Given the description of an element on the screen output the (x, y) to click on. 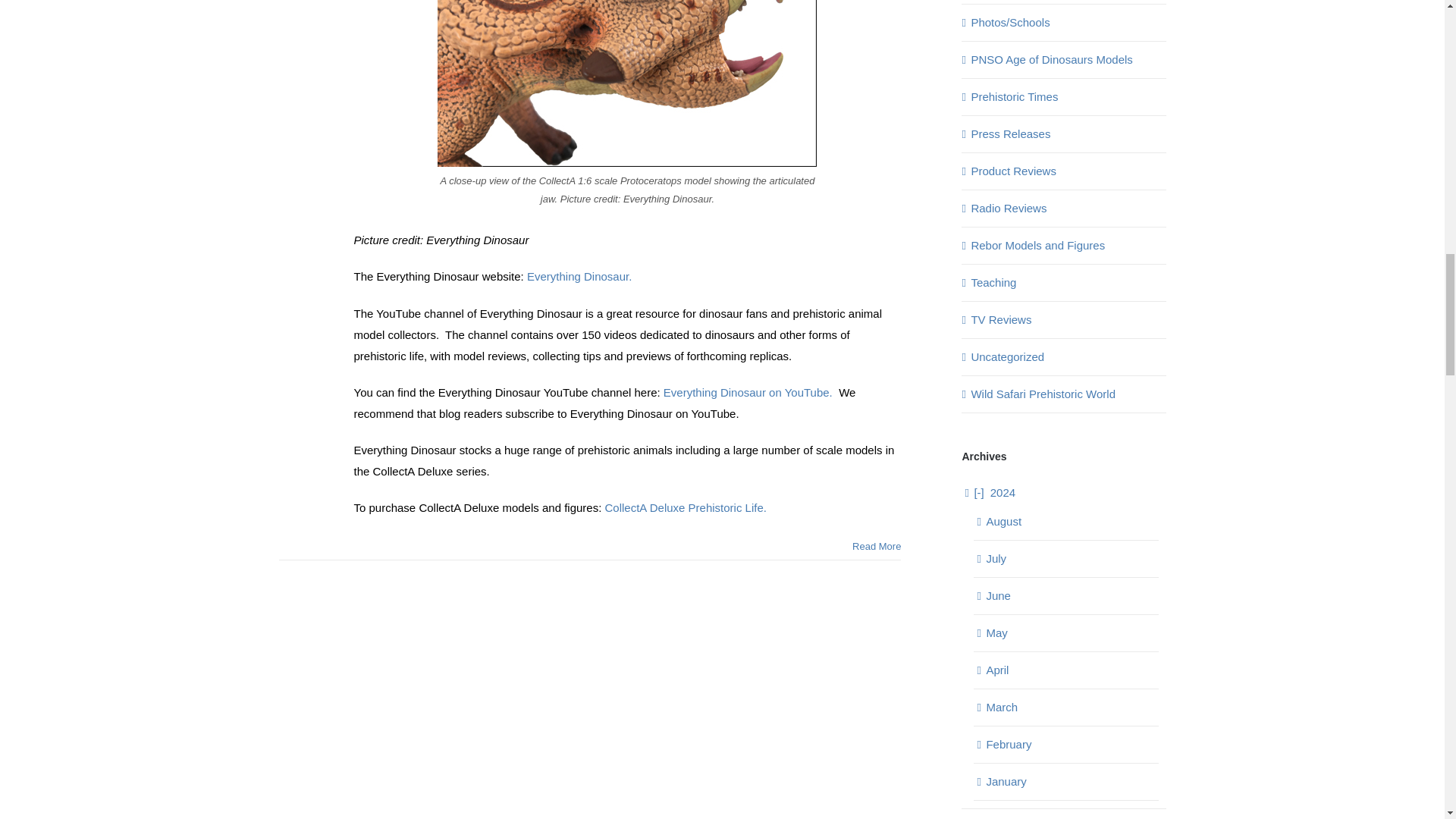
August (1003, 521)
2024 (994, 492)
CollectA Deluxe Prehistoric Life. (686, 507)
July (995, 558)
March (1001, 707)
Read More (876, 546)
Everything Dinosaur. (579, 276)
Everything Dinosaur on YouTube. (747, 391)
April (997, 669)
June (997, 594)
